Given the description of an element on the screen output the (x, y) to click on. 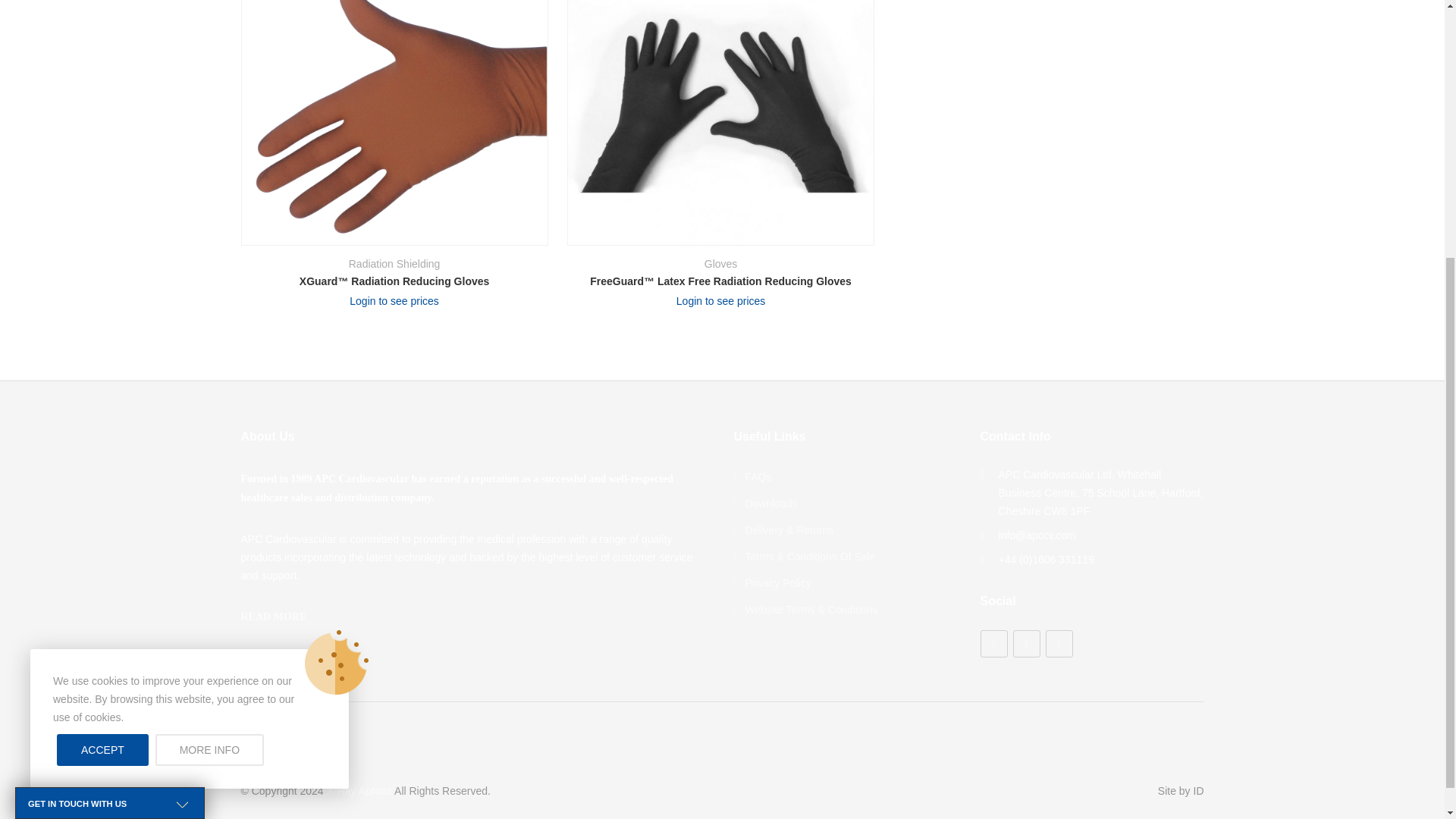
Email (1058, 643)
Twitter (1027, 643)
Linkedin (993, 643)
